Given the description of an element on the screen output the (x, y) to click on. 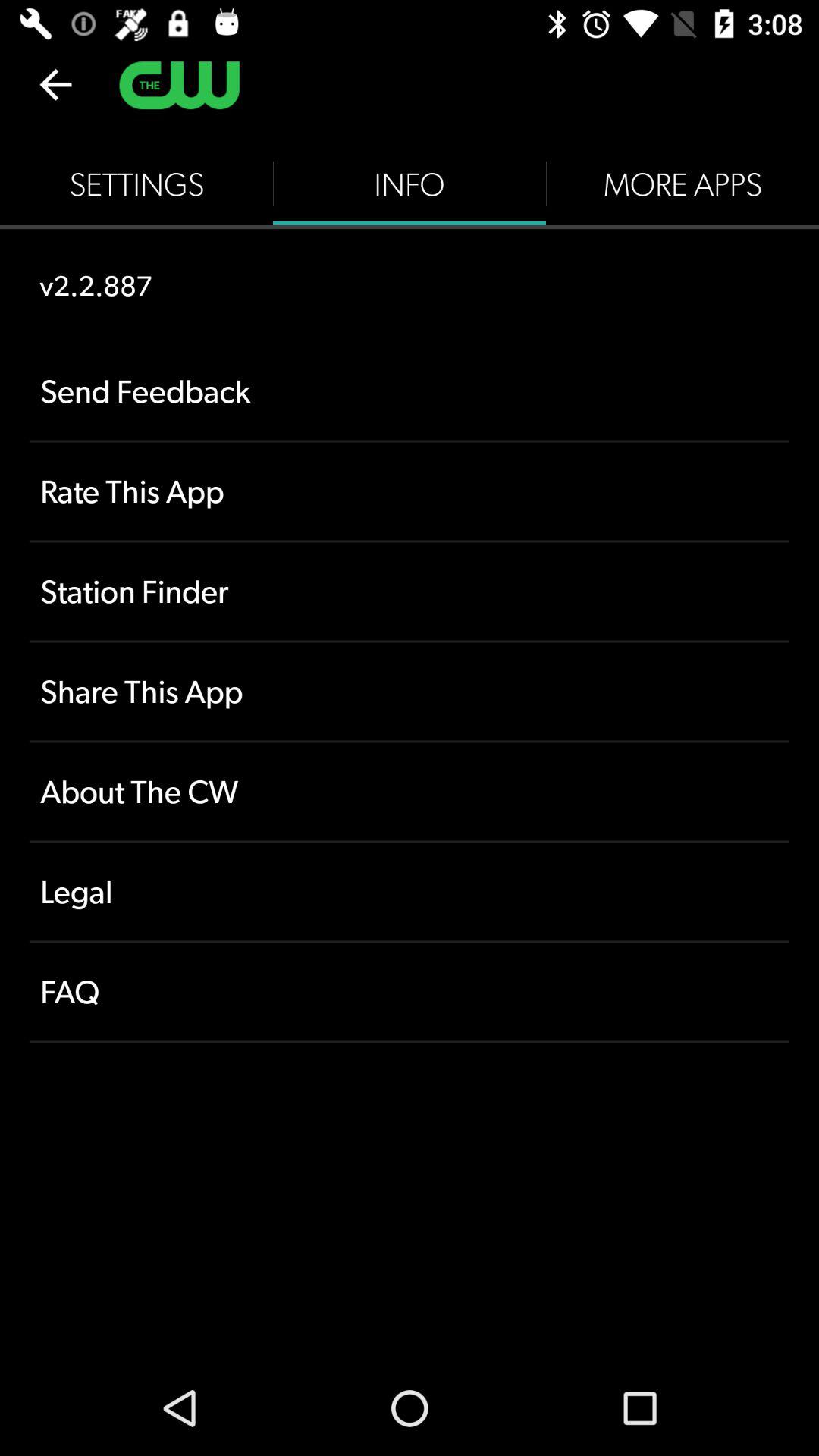
click item next to more apps item (409, 184)
